Given the description of an element on the screen output the (x, y) to click on. 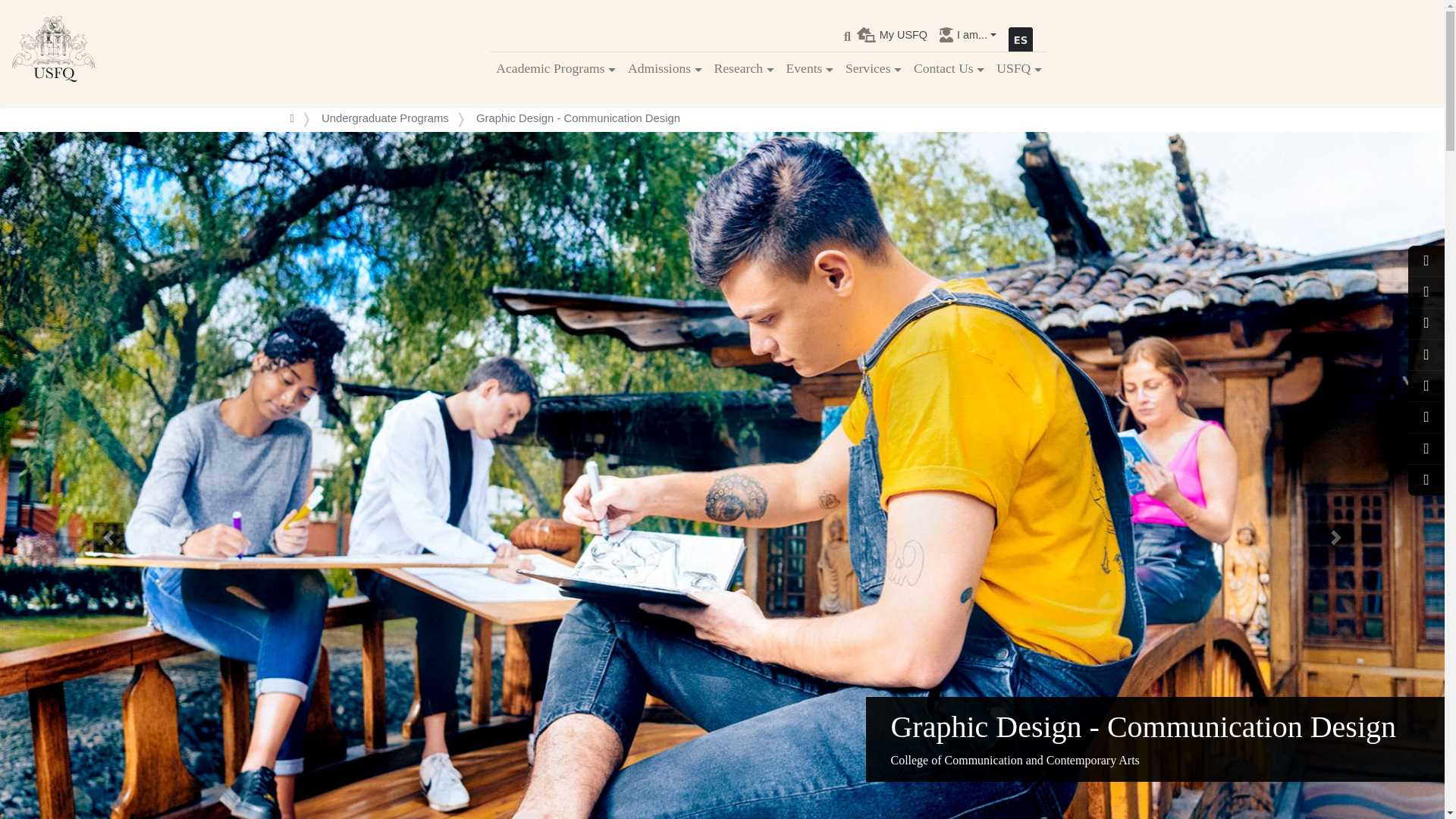
Home (53, 53)
linkedin (1426, 323)
tiktok (1426, 386)
instagram (1426, 292)
x-twitter (1426, 354)
spotify (1426, 449)
Quick access to what you need most (968, 35)
youtube (1426, 417)
flickr (1426, 480)
Skip to main content (721, 1)
Academic Programs (555, 68)
My USFQ (891, 35)
facebook (1426, 260)
